Given the description of an element on the screen output the (x, y) to click on. 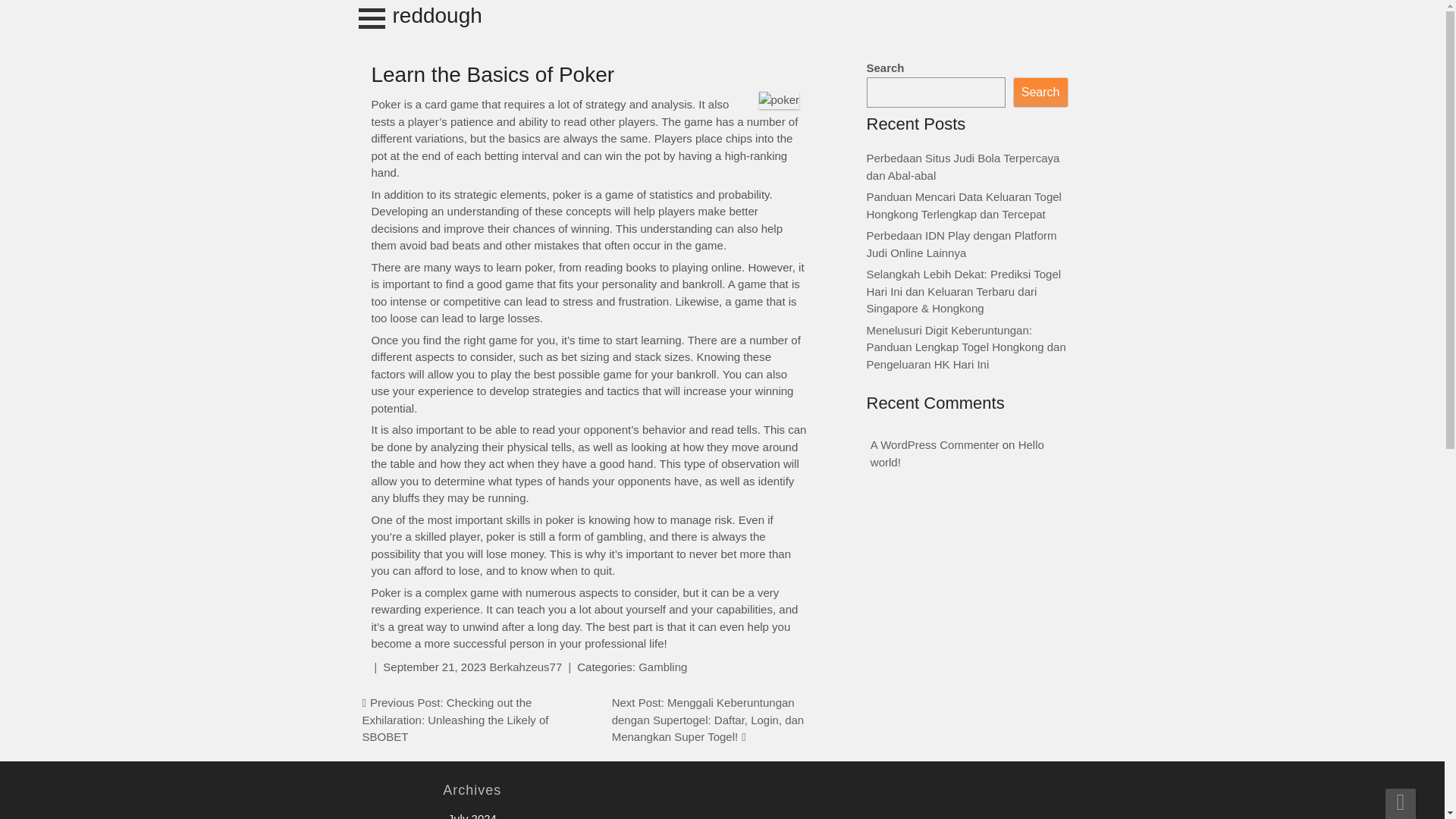
Posts by Berkahzeus77 (525, 666)
Perbedaan IDN Play dengan Platform Judi Online Lainnya (961, 244)
Hello world! (956, 453)
Search (1040, 92)
Perbedaan Situs Judi Bola Terpercaya dan Abal-abal (962, 166)
Gambling (663, 666)
A WordPress Commenter (934, 444)
reddough (437, 15)
Berkahzeus77 (525, 666)
July 2024 (472, 815)
